Given the description of an element on the screen output the (x, y) to click on. 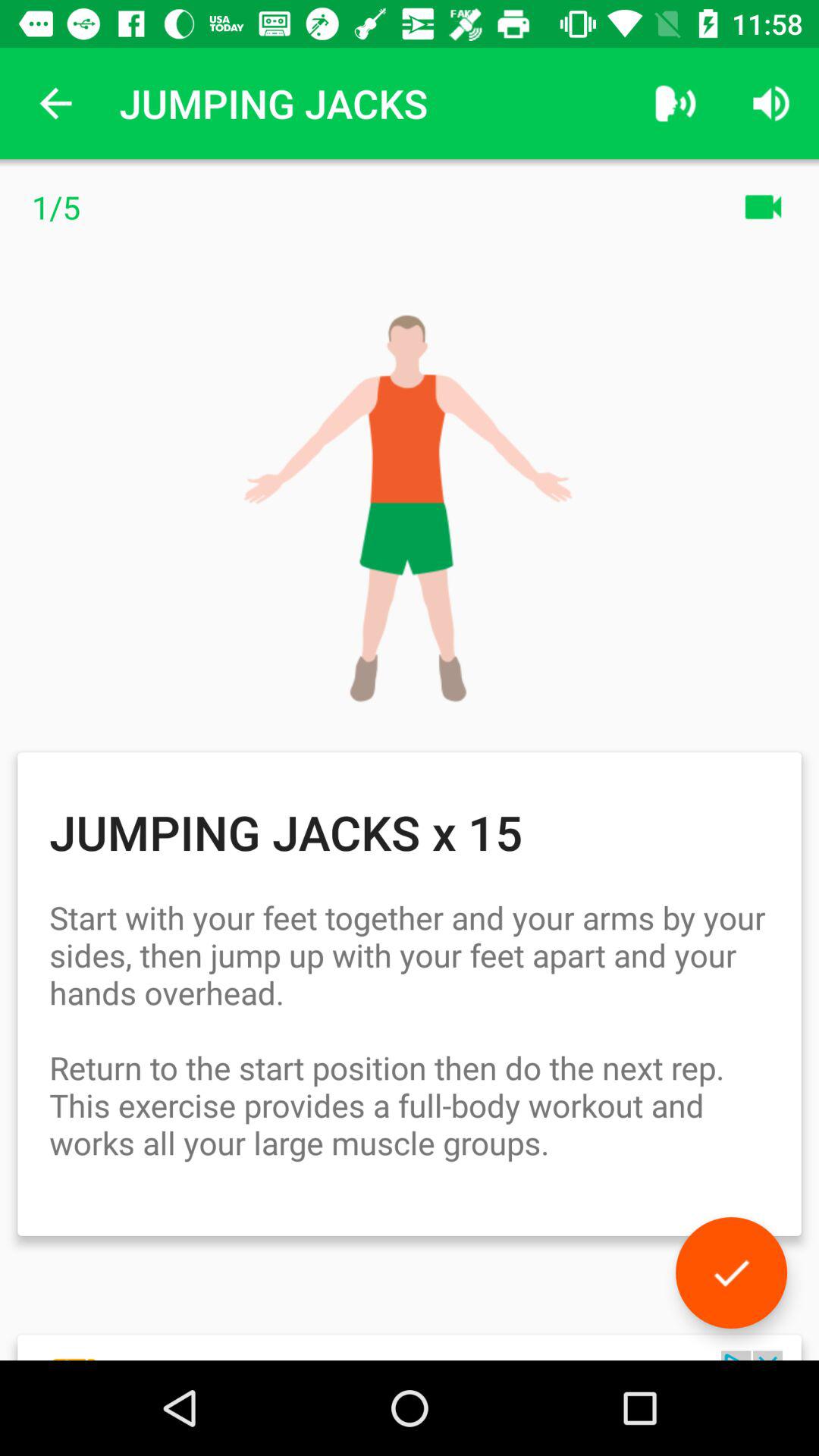
turn off icon below the start with your icon (731, 1272)
